Given the description of an element on the screen output the (x, y) to click on. 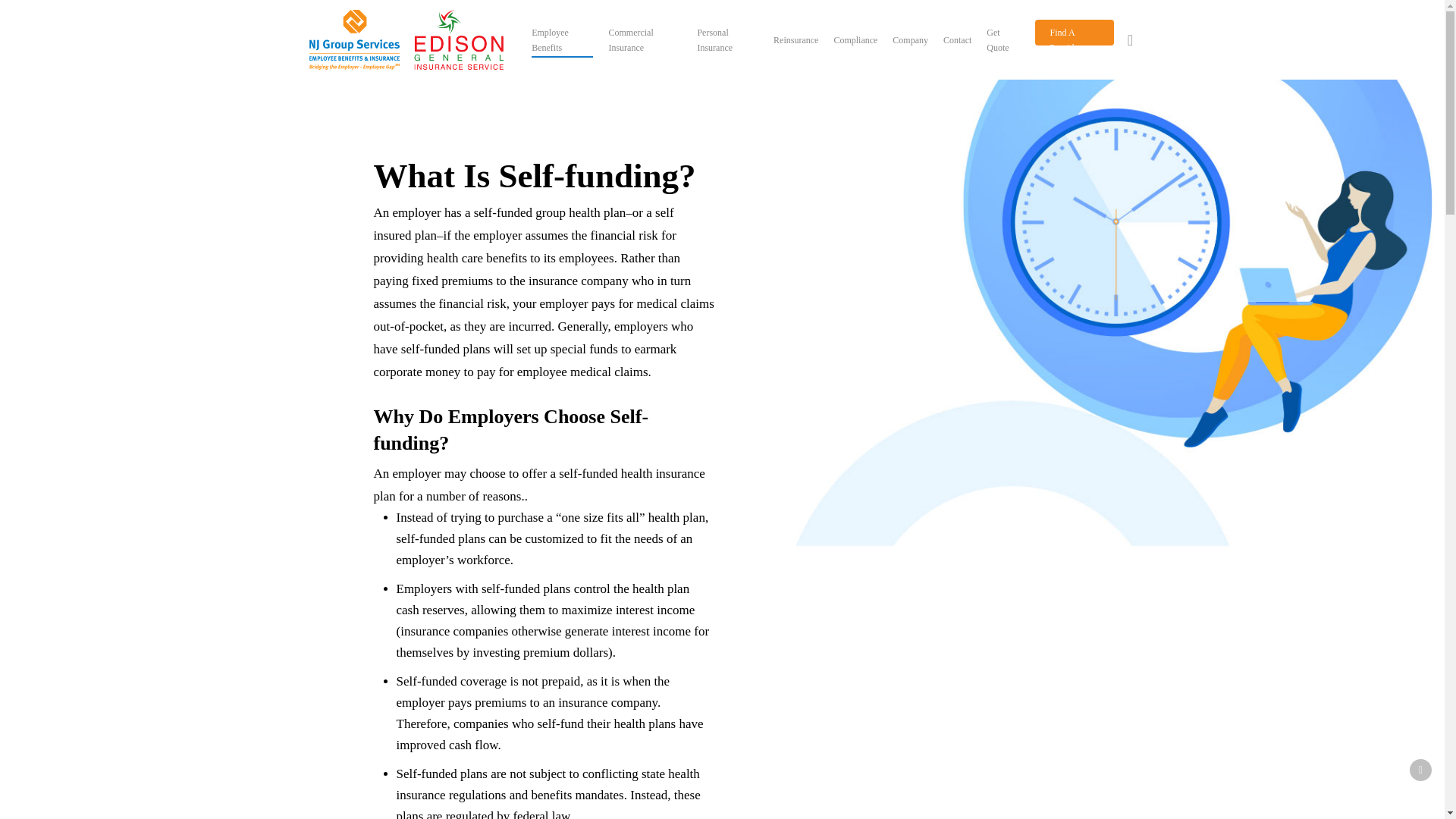
Employee Benefits (561, 39)
Reinsurance (795, 38)
Personal Insurance (727, 39)
Commercial Insurance (644, 39)
Compliance (854, 38)
